Given the description of an element on the screen output the (x, y) to click on. 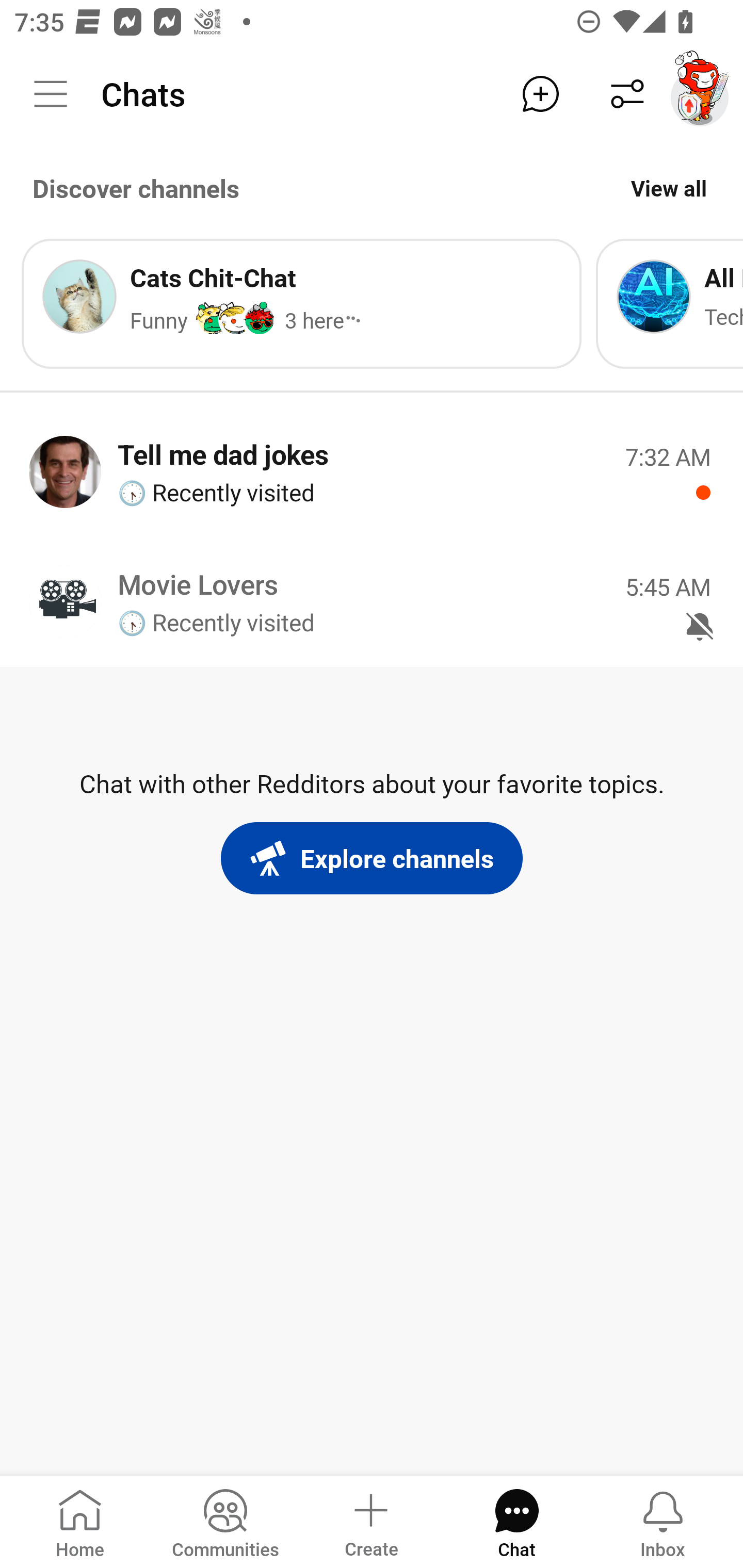
Community menu (50, 93)
New chat (540, 93)
Filter chats (626, 93)
TestAppium002 account (699, 93)
View all (668, 188)
Chat icon Cats Chit-Chat Funny 3 here (301, 303)
Tell me dad jokes 7:32 AM 🕟 Recently visited (371, 471)
Movie Lovers 5:45 AM 🕟 Recently visited Muted (371, 601)
Explore channels (371, 858)
Home (80, 1520)
Communities (225, 1520)
Create a post Create (370, 1520)
Chat (516, 1520)
Inbox (662, 1520)
